Given the description of an element on the screen output the (x, y) to click on. 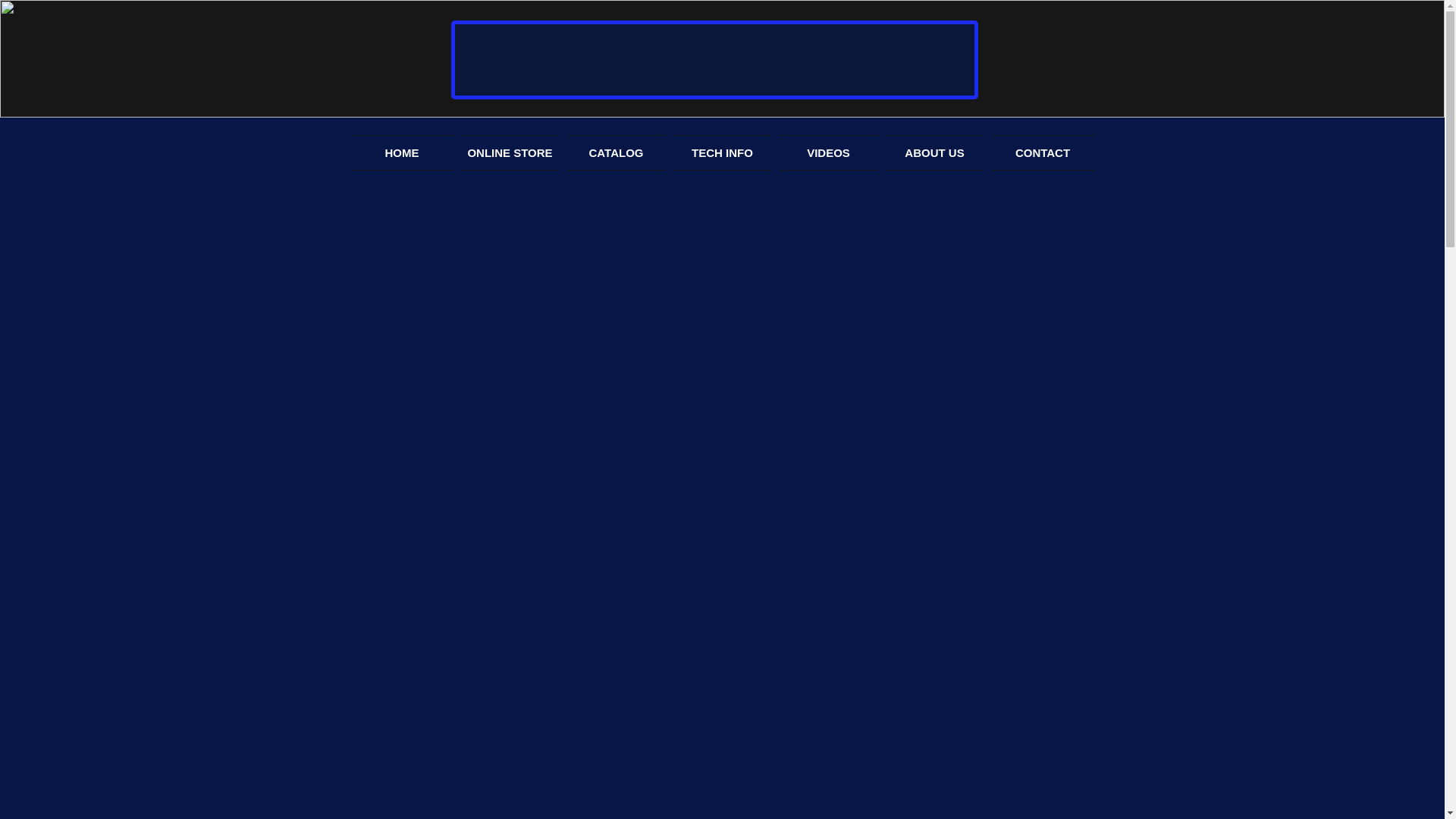
TECH INFO (721, 152)
ONLINE STORE (509, 152)
CATALOG (615, 152)
ABOUT US (933, 152)
VIDEOS (827, 152)
CONTACT (1040, 152)
HOME (403, 152)
